Given the description of an element on the screen output the (x, y) to click on. 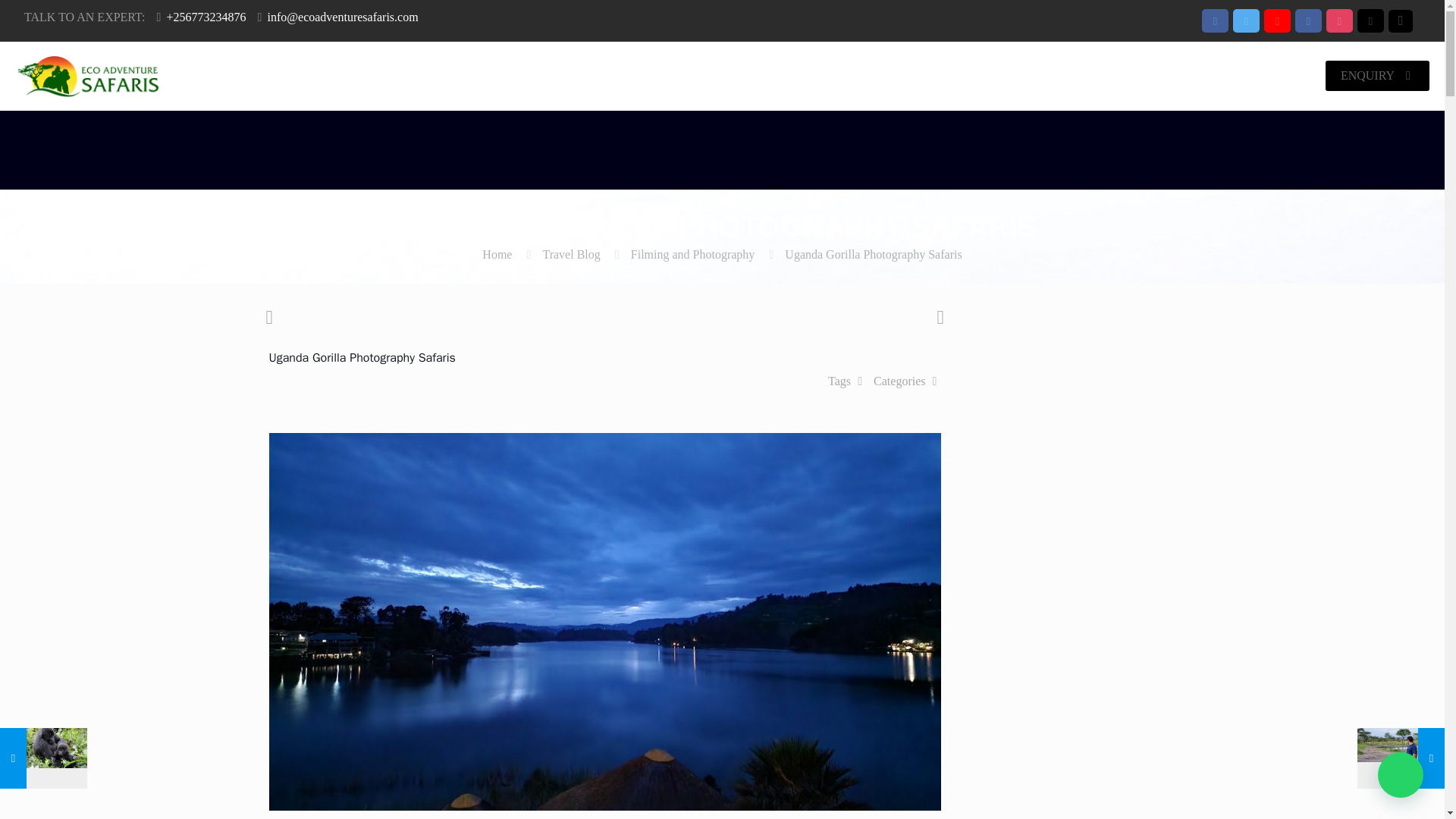
Instagram (1339, 21)
LinkedIn (1308, 21)
Tripadvisor (1370, 21)
Facebook (1215, 21)
Home (704, 75)
Eco Adventure Safaris (87, 75)
TikTok (1404, 21)
Gorilla Safaris (785, 75)
YouTube (1276, 21)
